Given the description of an element on the screen output the (x, y) to click on. 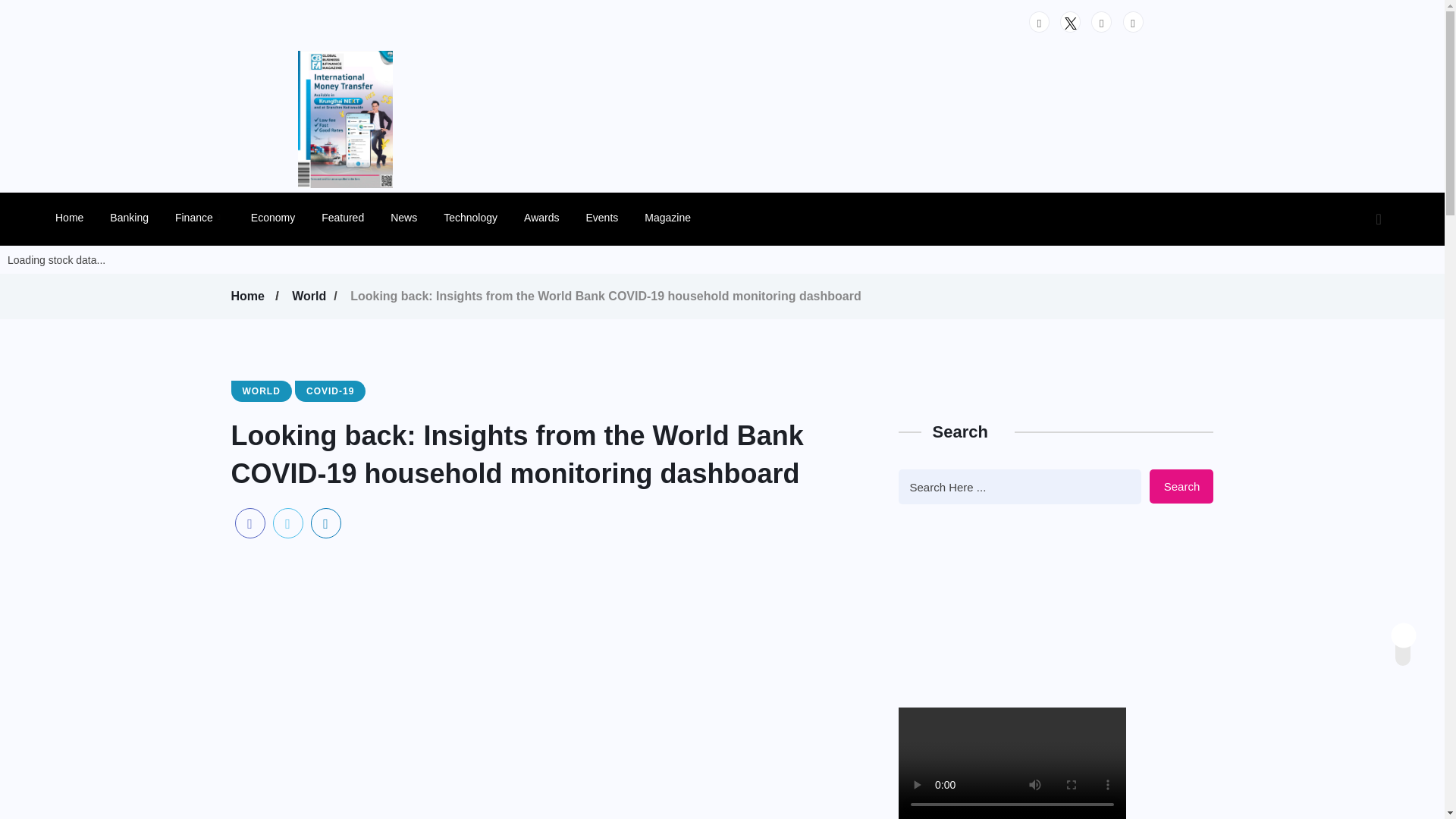
Banking (129, 216)
News (403, 216)
Economy (272, 216)
Home (249, 296)
Magazine (667, 216)
Events (600, 216)
Finance (199, 216)
Featured (342, 216)
on (1415, 631)
Technology (470, 216)
